Given the description of an element on the screen output the (x, y) to click on. 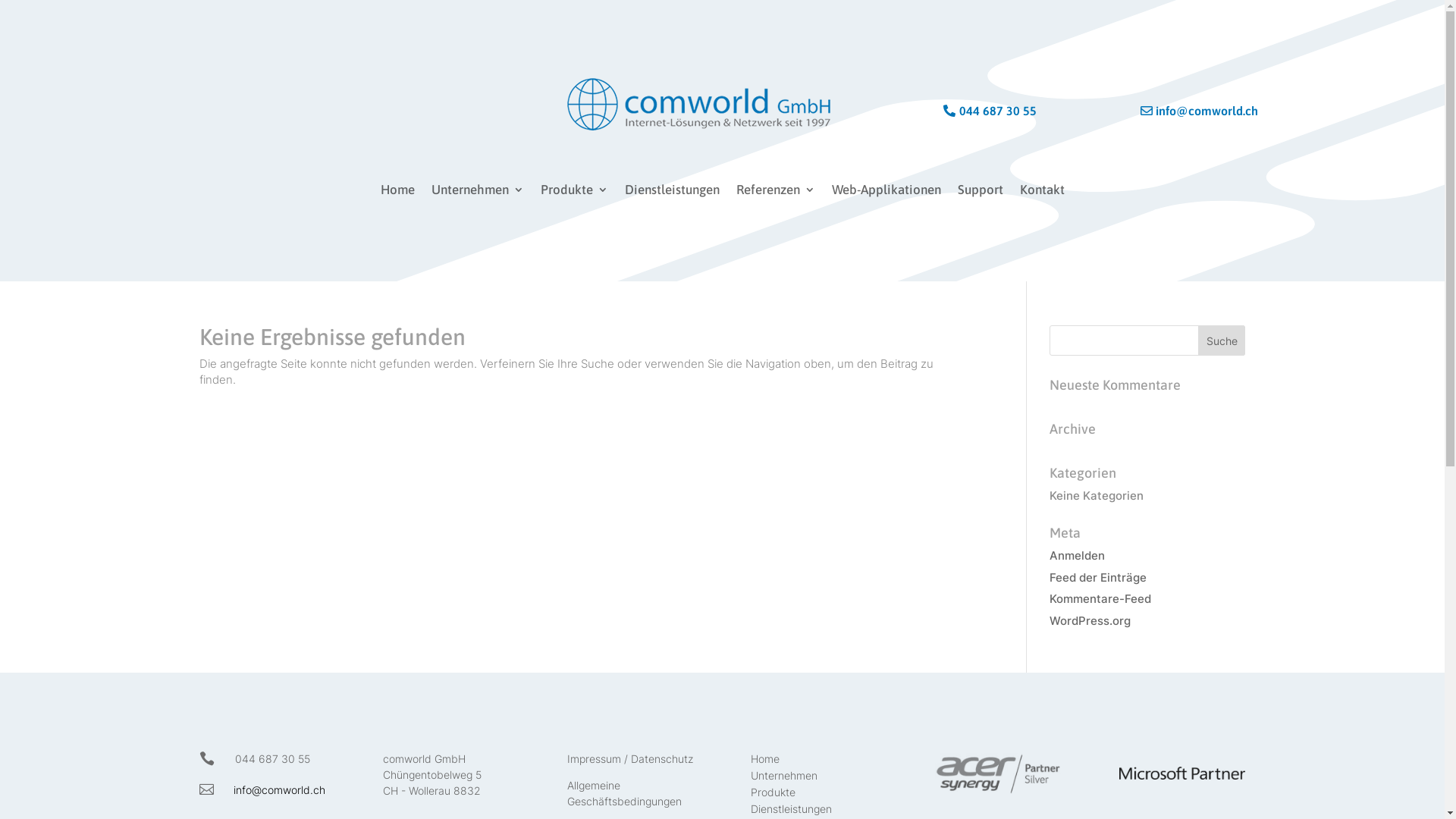
Anmelden Element type: text (1076, 555)
Referenzen Element type: text (774, 192)
Unternehmen Element type: text (476, 192)
Support Element type: text (979, 192)
Home Element type: text (764, 761)
Unternehmen Element type: text (783, 778)
WordPress.org Element type: text (1089, 619)
Microsoft Office365 Partner Element type: hover (998, 773)
044 687 30 55 Element type: text (999, 111)
Suche Element type: text (1221, 340)
Kommentare-Feed Element type: text (1100, 598)
Produkte Element type: text (573, 192)
Produkte Element type: text (772, 795)
Dienstleistungen Element type: text (671, 192)
Home Element type: text (397, 192)
Web-Applikationen Element type: text (885, 192)
info@comworld.ch Element type: text (279, 788)
Kontakt Element type: text (1041, 192)
Dienstleistungen Element type: text (790, 811)
Microsoft Silver Partner Comworld Element type: hover (1182, 772)
Impressum / Datenschutz Element type: text (630, 758)
info@comworld.ch Element type: text (1188, 111)
